Given the description of an element on the screen output the (x, y) to click on. 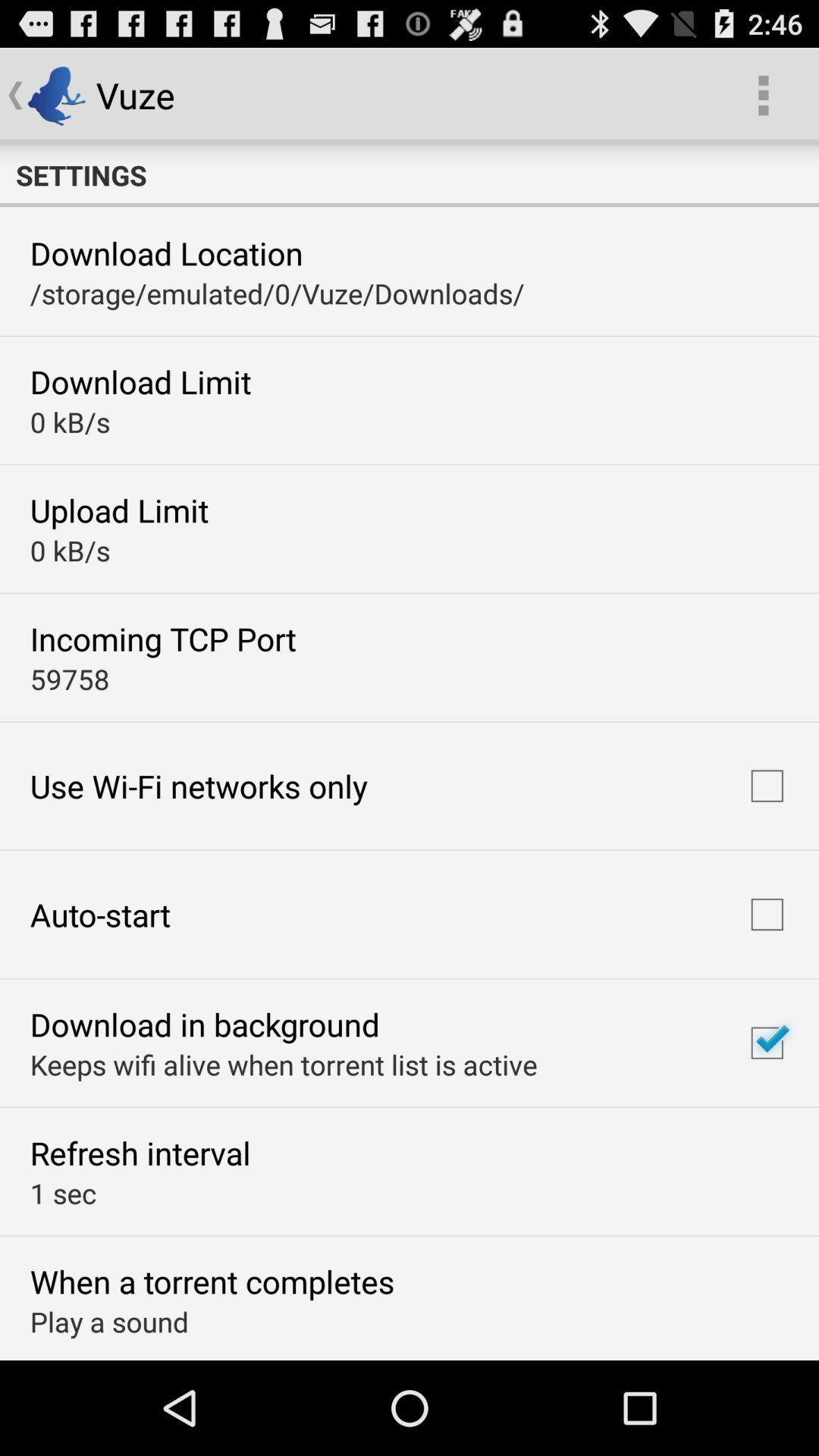
tap item below download location item (277, 293)
